Given the description of an element on the screen output the (x, y) to click on. 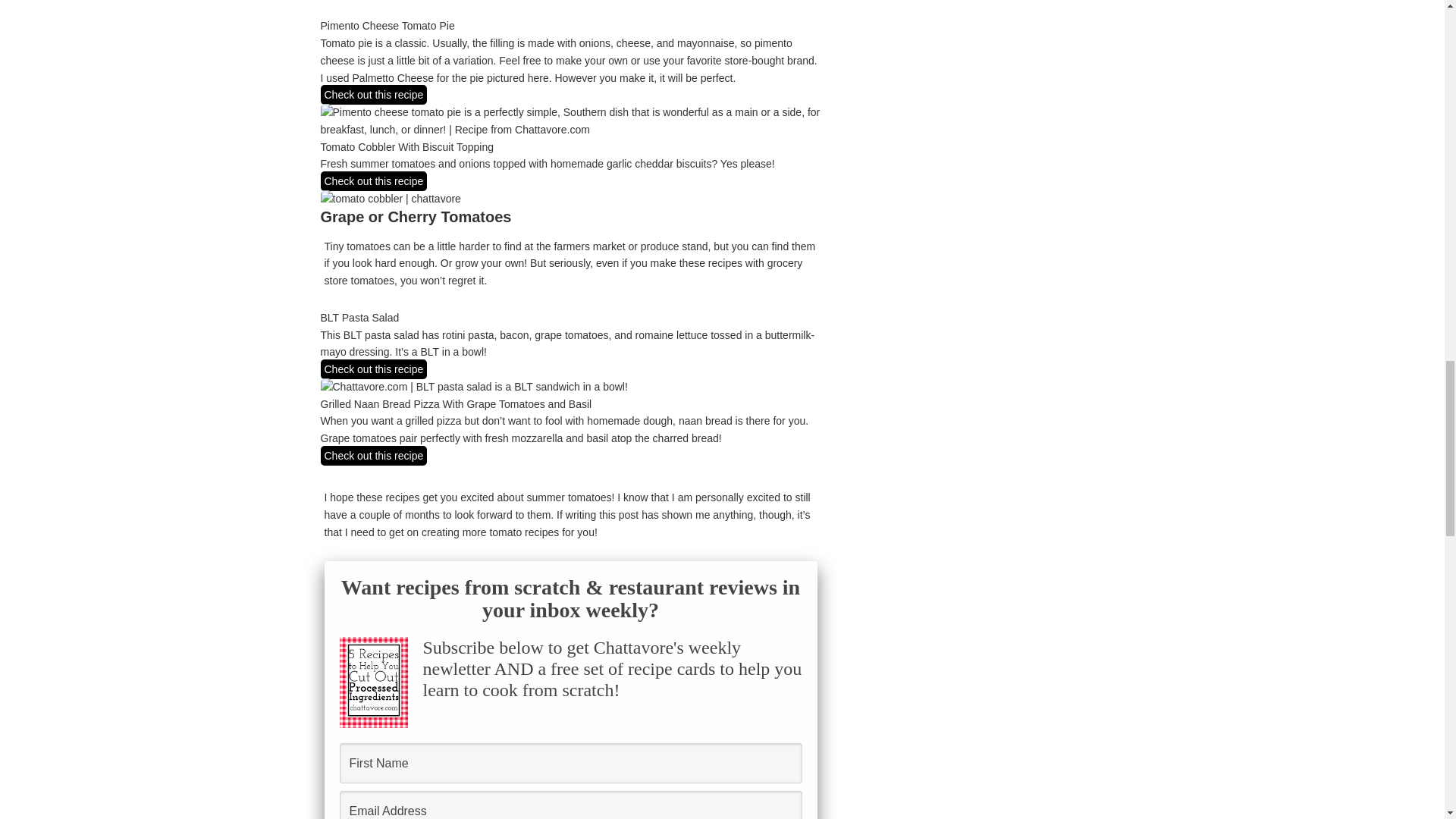
BY COURSE (435, 336)
Get the Recipe Cards! (570, 231)
Get the Recipe Cards! (570, 231)
Instant Pot Lemon Cheesecake With Animal Cracker Crust (767, 525)
9 Amazing Summer Fruit Desserts (373, 627)
